Given the description of an element on the screen output the (x, y) to click on. 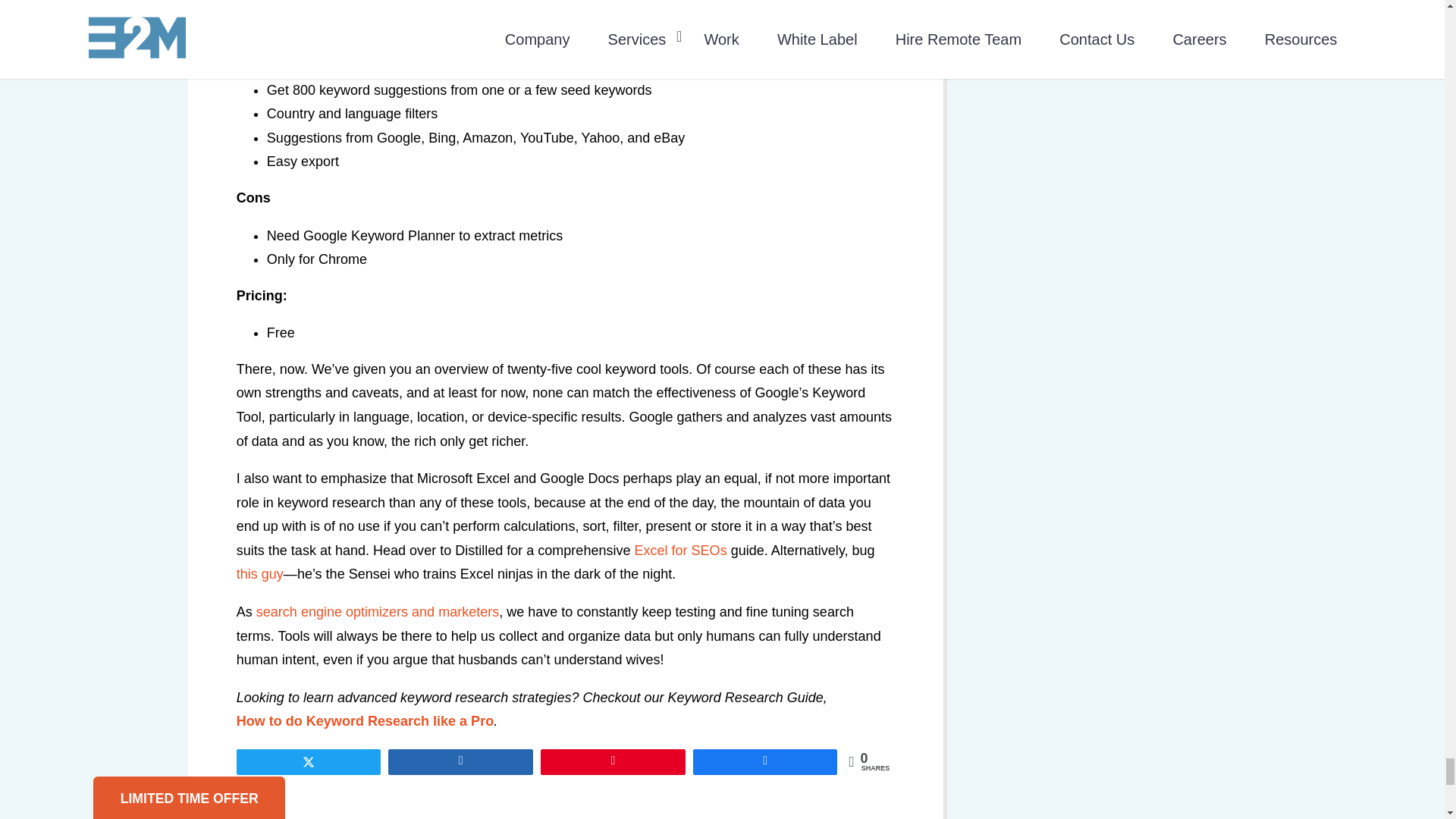
Richard Baxter (259, 574)
Excel for SEO (679, 550)
